Given the description of an element on the screen output the (x, y) to click on. 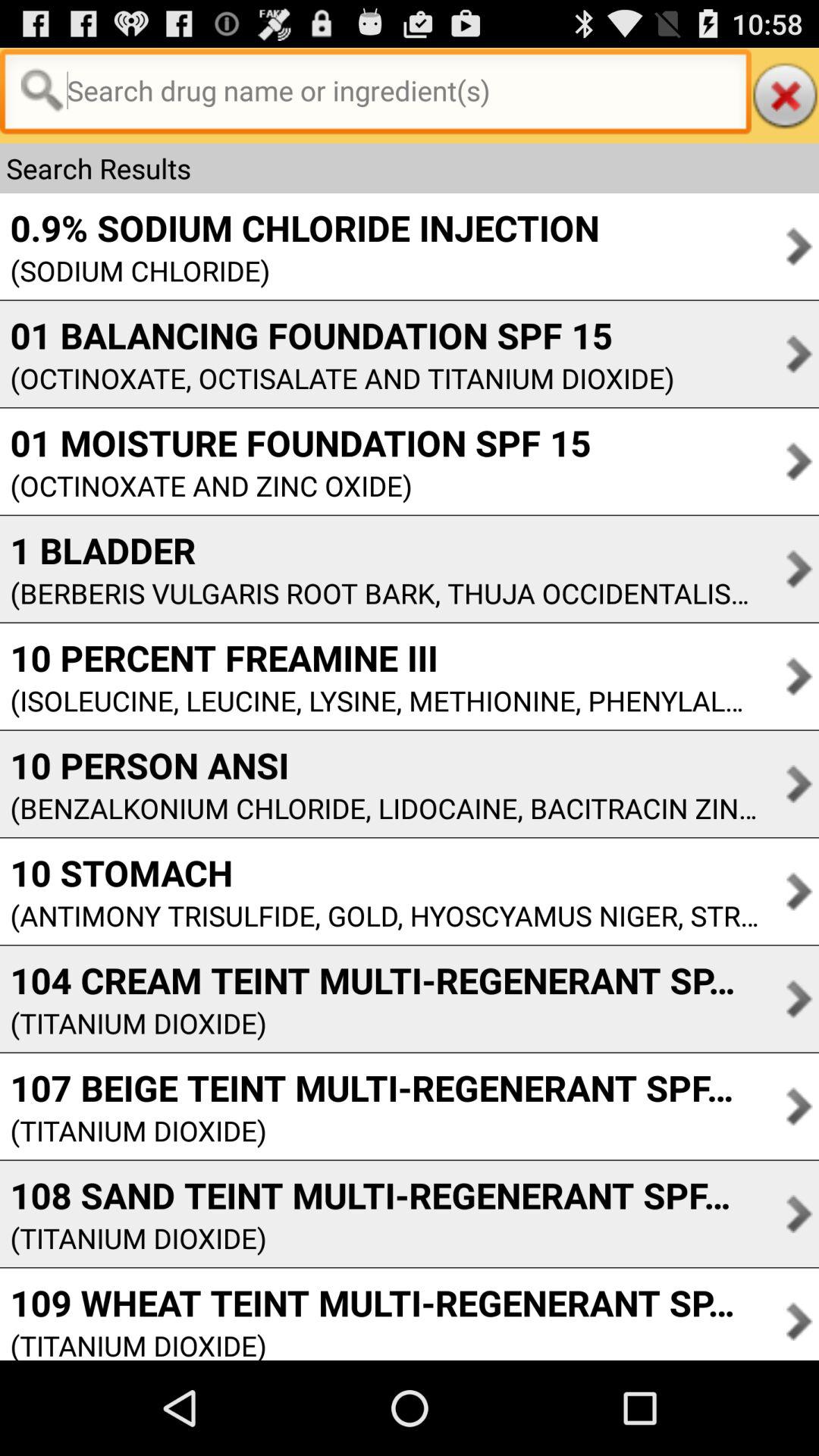
press antimony trisulfide gold item (379, 915)
